Given the description of an element on the screen output the (x, y) to click on. 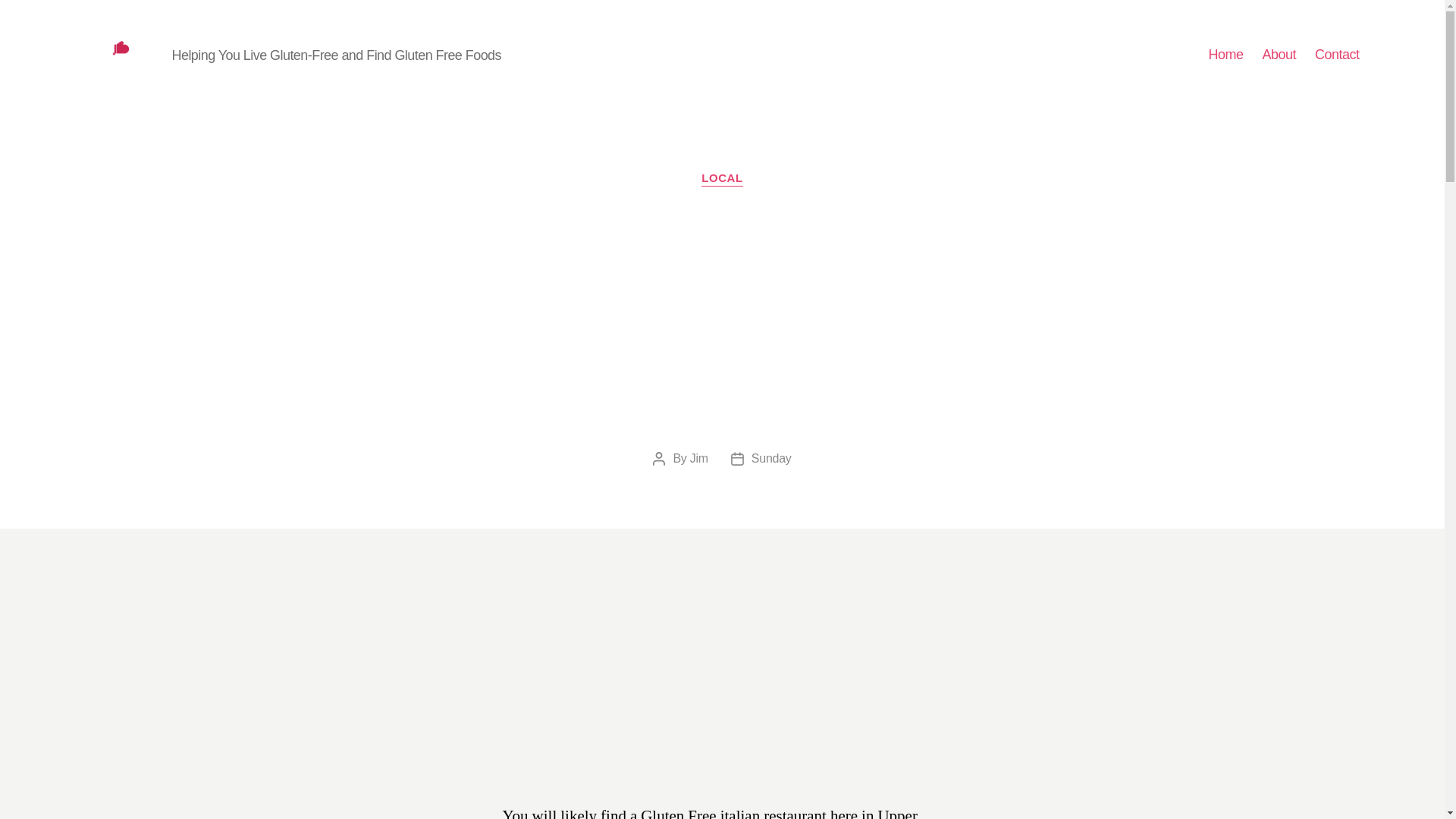
Contact (1336, 54)
Sunday (771, 458)
LOCAL (721, 178)
Home (1225, 54)
Gluten Free italian restaurant in Upper Brookville (118, 55)
Jim (698, 458)
About (1278, 54)
